Given the description of an element on the screen output the (x, y) to click on. 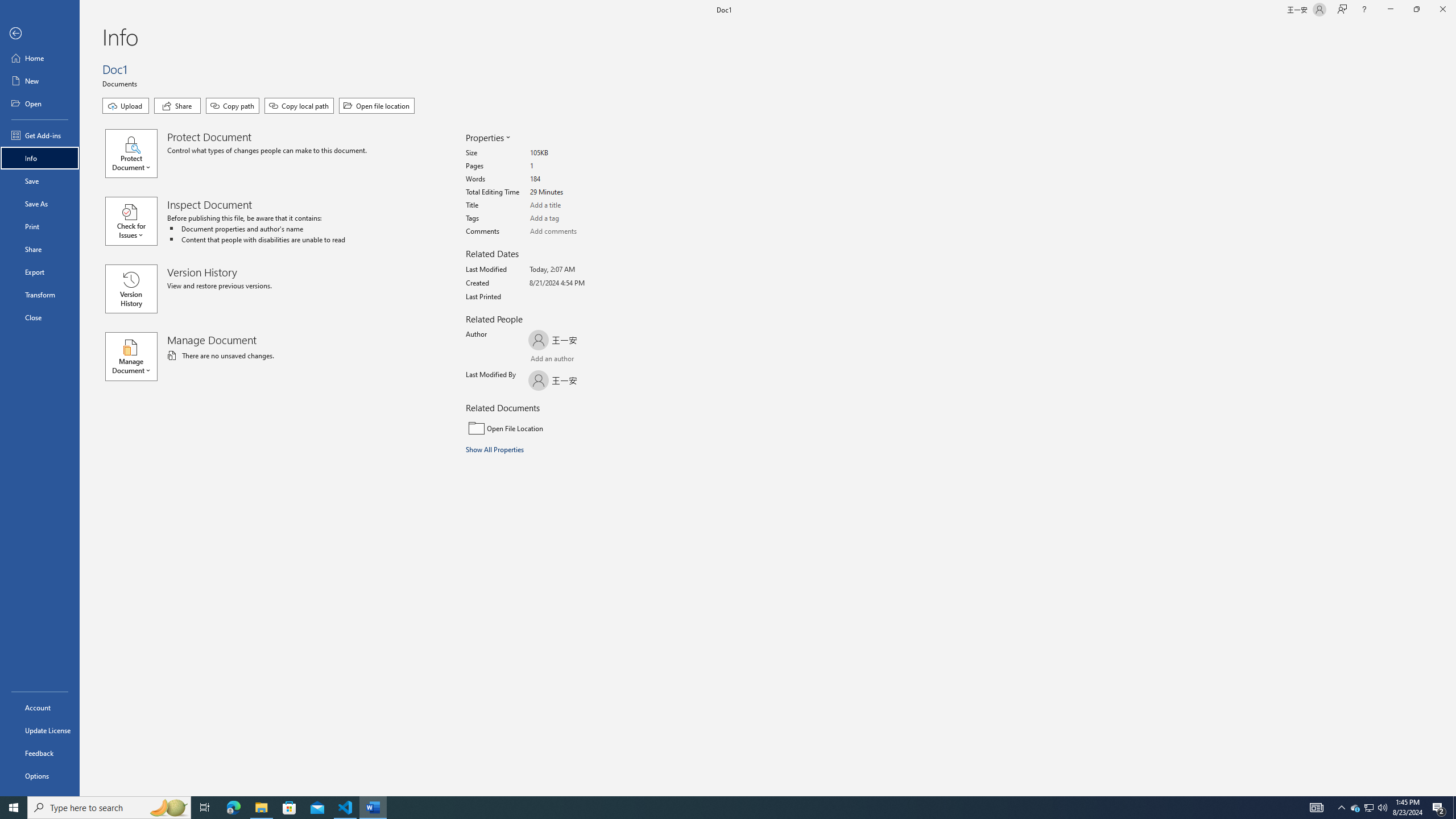
Open file location (376, 105)
Add an author (540, 359)
Verify Names (559, 359)
Protect Document (135, 153)
Options (40, 775)
Words (572, 179)
Tags (572, 218)
Print (40, 225)
Open File Location (541, 427)
